Given the description of an element on the screen output the (x, y) to click on. 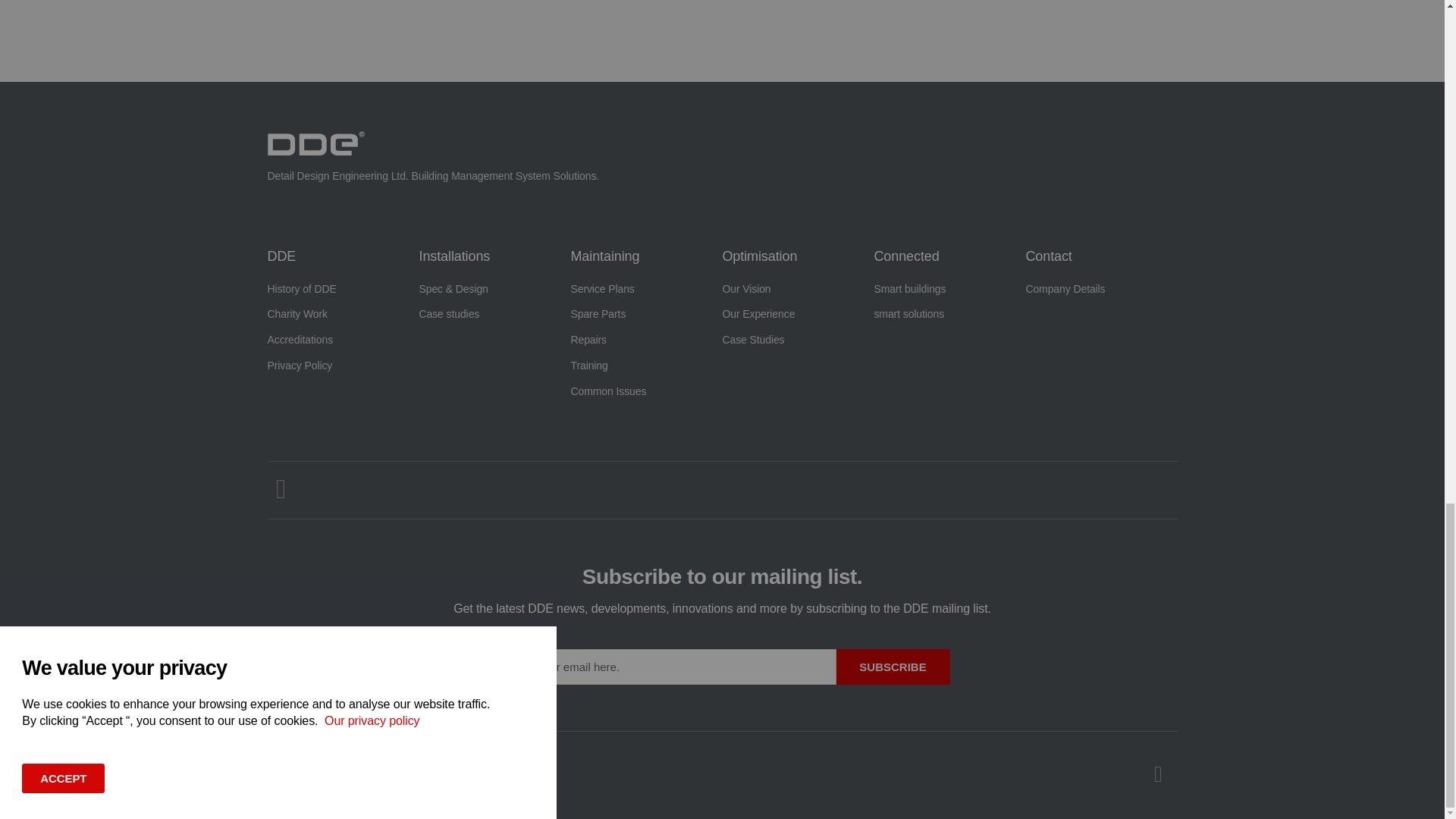
Our Experience (797, 314)
Case Studies (797, 340)
Common Issues (646, 391)
Charity Work (342, 314)
Spare Parts (646, 314)
DDE (280, 255)
Privacy Policy (342, 365)
Training (646, 365)
Our Vision (797, 289)
smart solutions (949, 314)
